Given the description of an element on the screen output the (x, y) to click on. 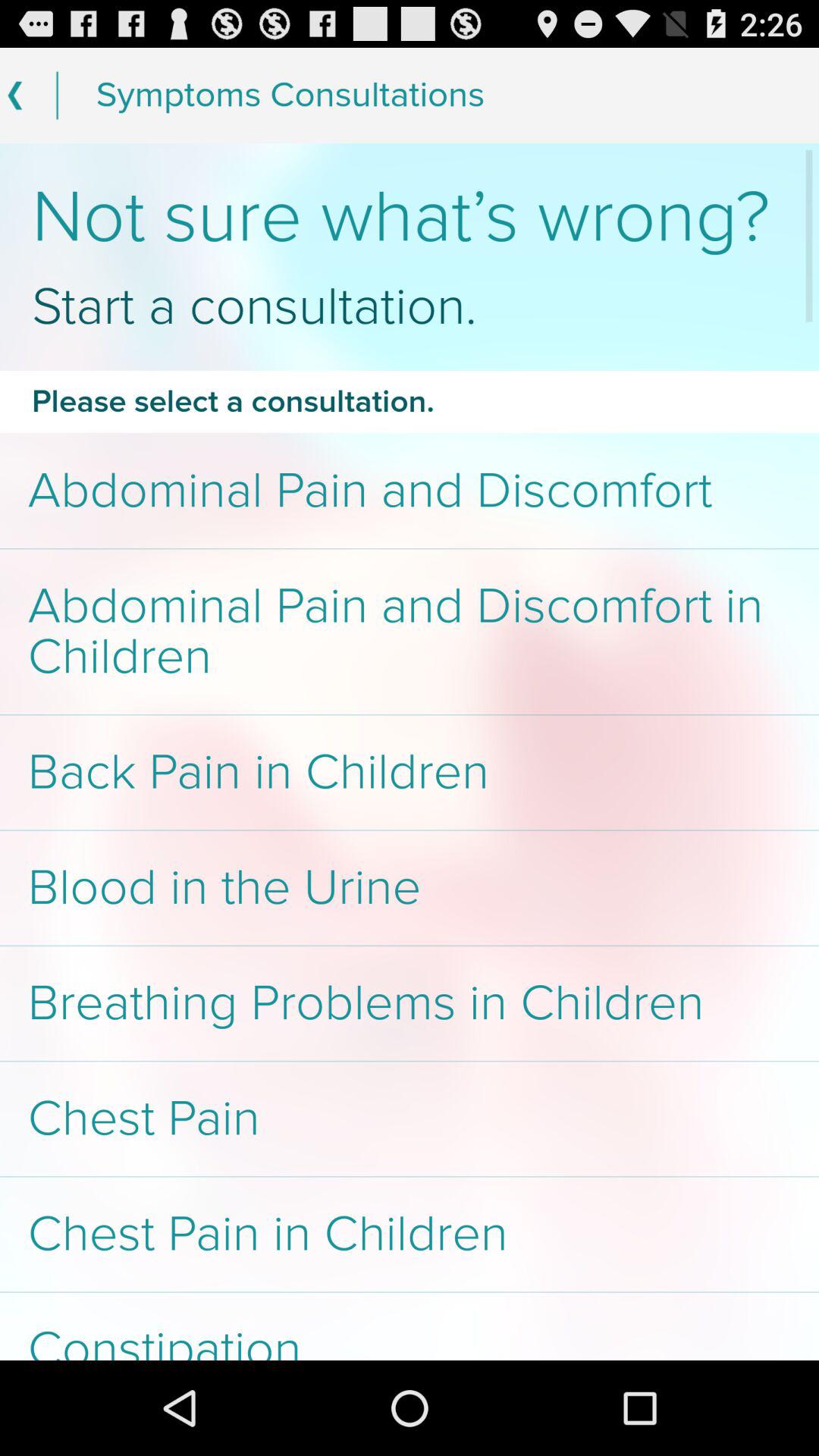
open app below chest pain in app (409, 1326)
